Given the description of an element on the screen output the (x, y) to click on. 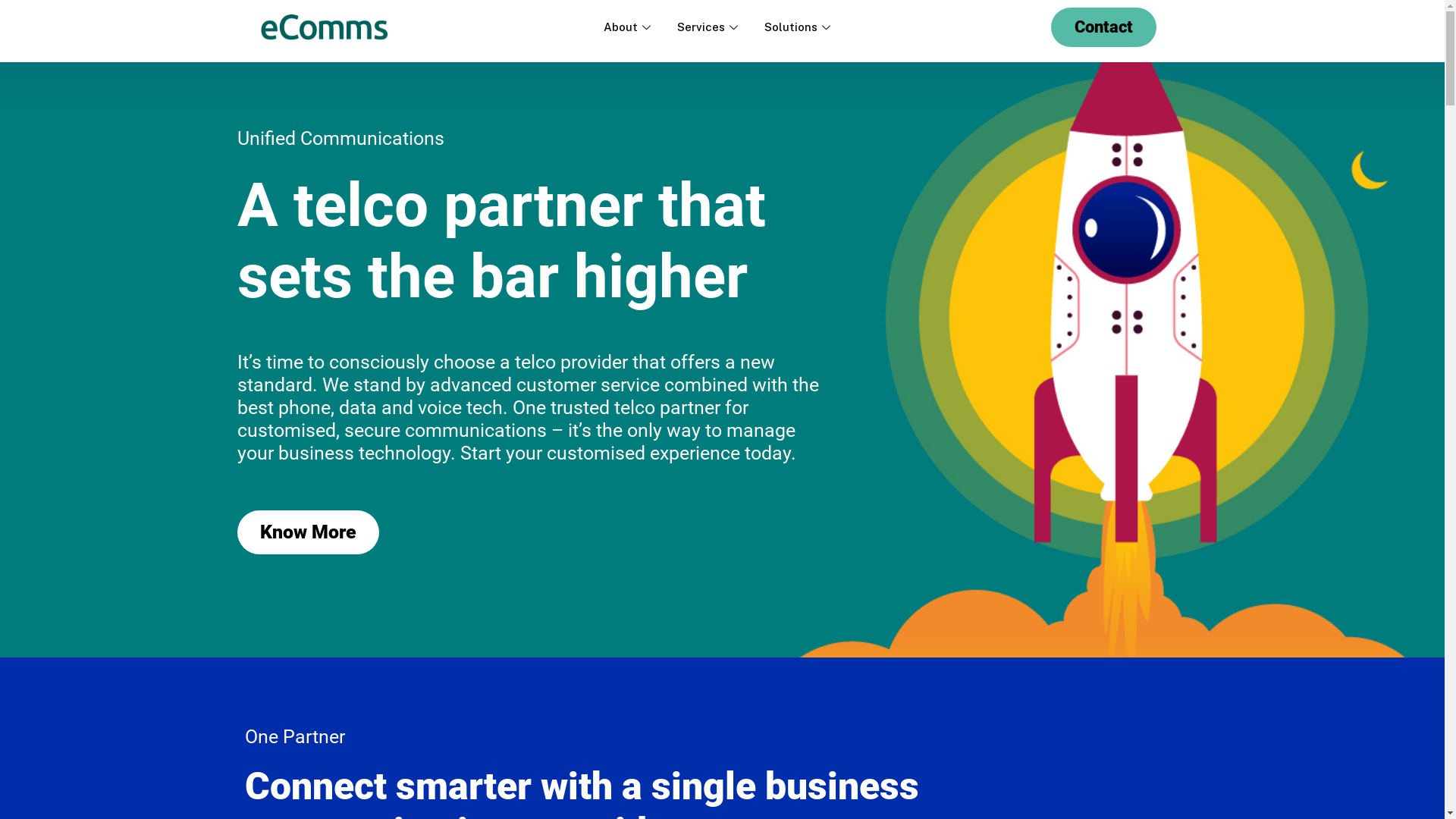
Know More Element type: text (307, 531)
Contact Element type: text (1103, 27)
Solutions Element type: text (799, 27)
Services Element type: text (709, 27)
About Element type: text (628, 27)
